Given the description of an element on the screen output the (x, y) to click on. 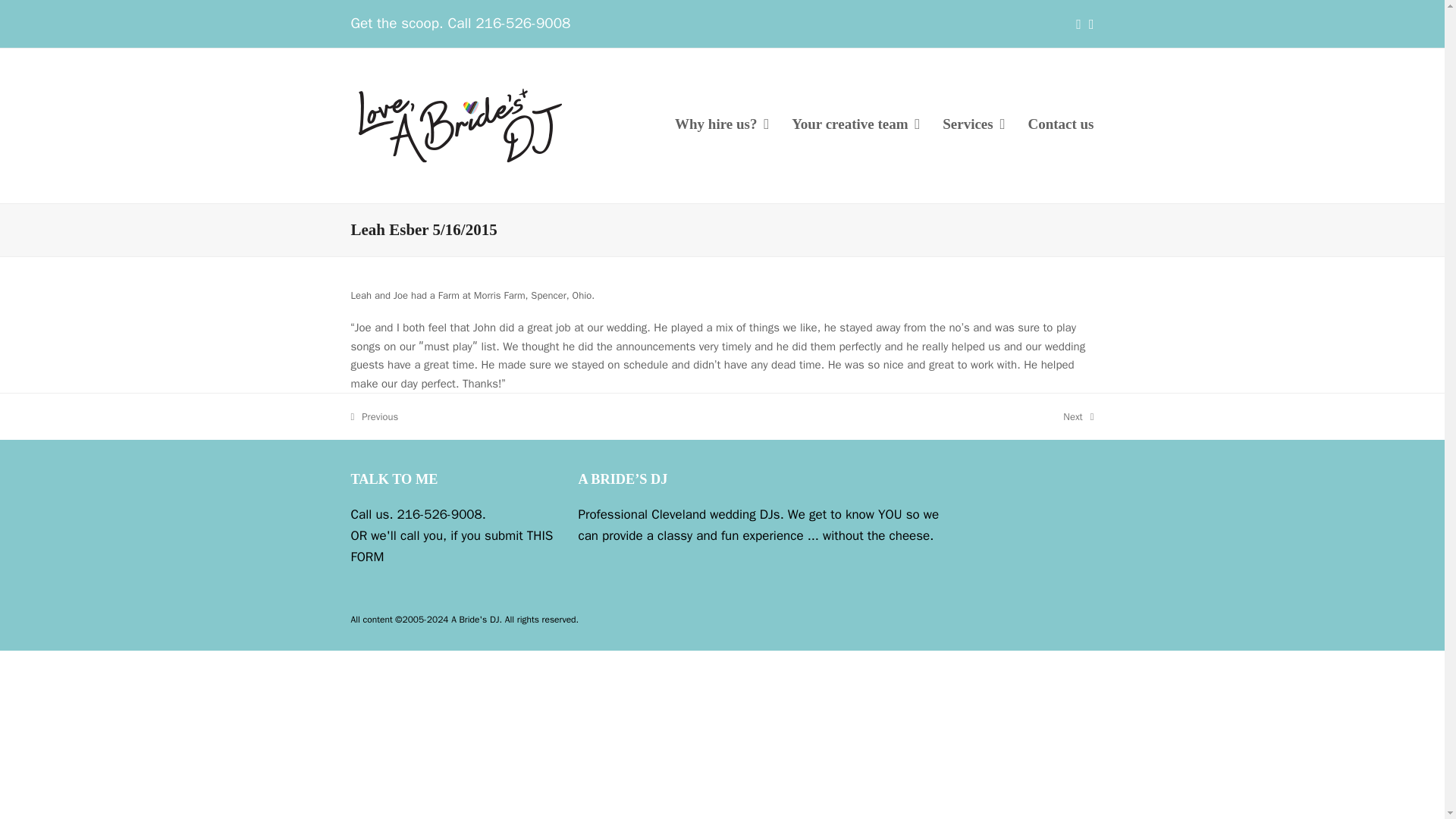
Why hire us? (721, 125)
Contact us (1077, 416)
OR we'll call you, if you submit THIS FORM (1060, 125)
Services (451, 546)
Your creative team (973, 125)
